Given the description of an element on the screen output the (x, y) to click on. 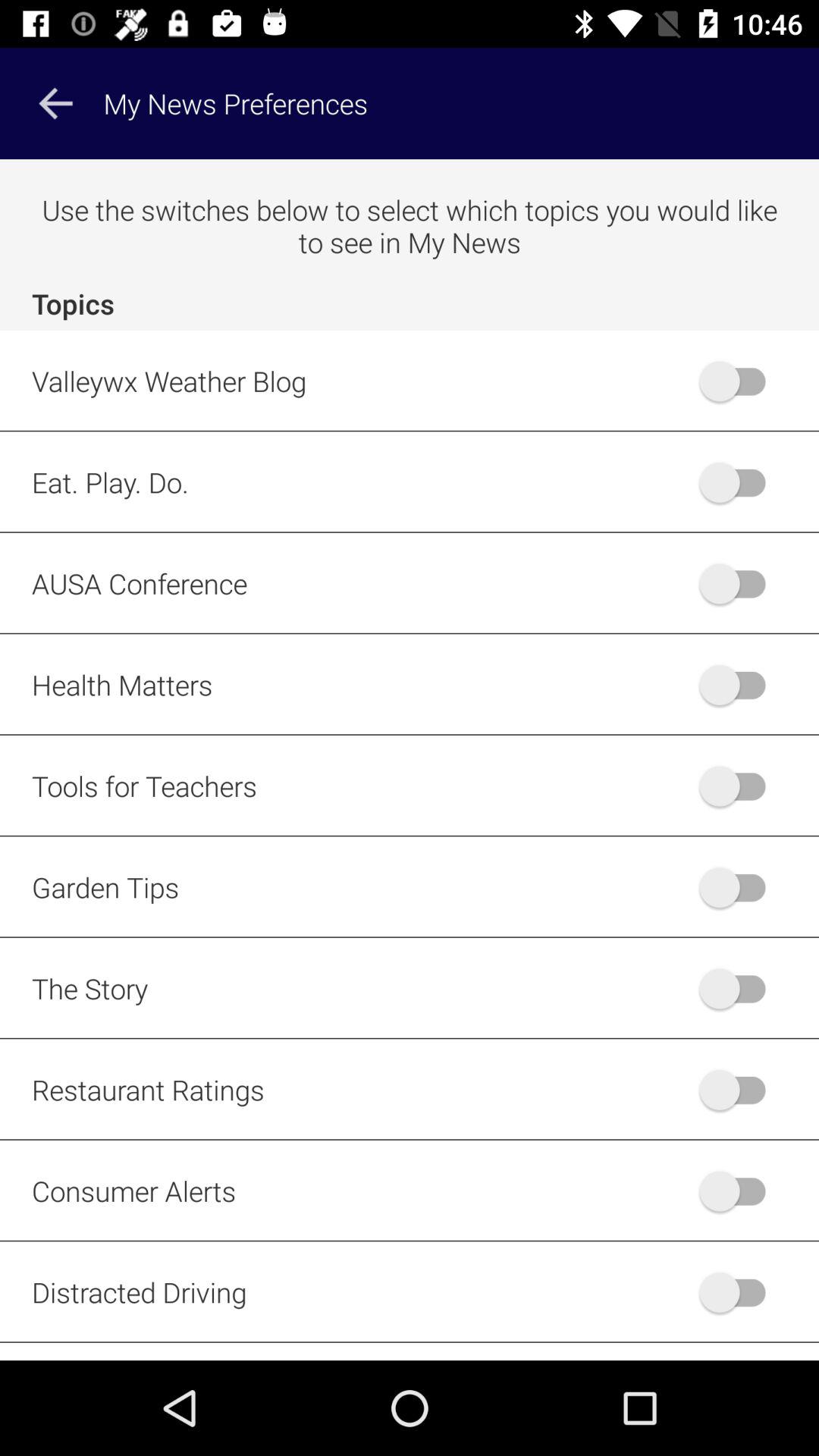
toggle ausa conference option (739, 583)
